Given the description of an element on the screen output the (x, y) to click on. 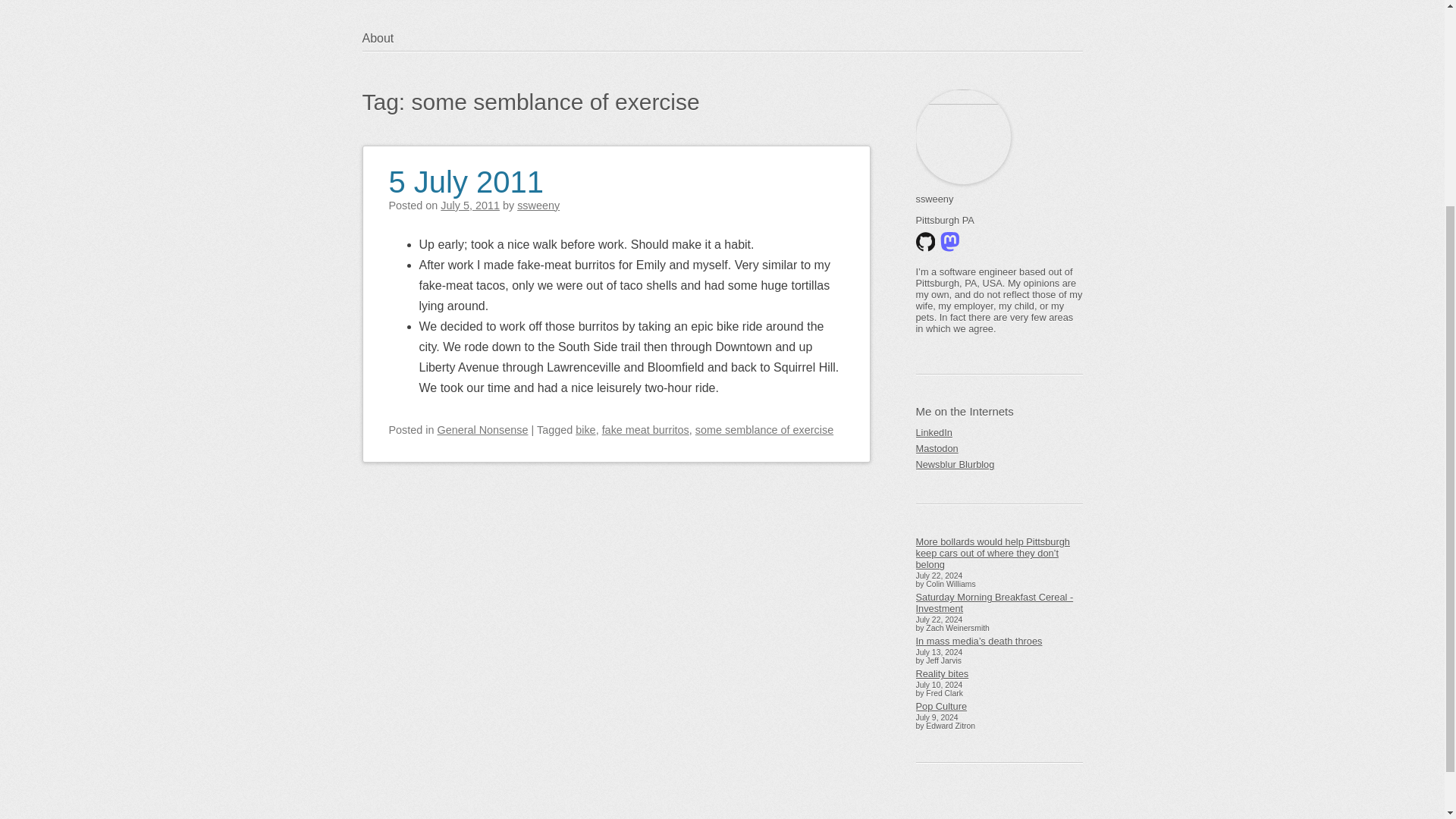
Mastodon Profile (999, 448)
Newsblur Blurblog (999, 464)
View all posts by ssweeny (537, 205)
About (387, 38)
Reality bites (999, 673)
Pop Culture (999, 706)
Shared stories from my RSS reader (999, 464)
some semblance of exercise (763, 429)
11:47 pm (470, 205)
Saturday Morning Breakfast Cereal - Investment (999, 602)
Permalink to 5 July 2011 (465, 172)
ssweeny (537, 205)
Main menu (435, 67)
LinkedIn Profile (999, 432)
